Given the description of an element on the screen output the (x, y) to click on. 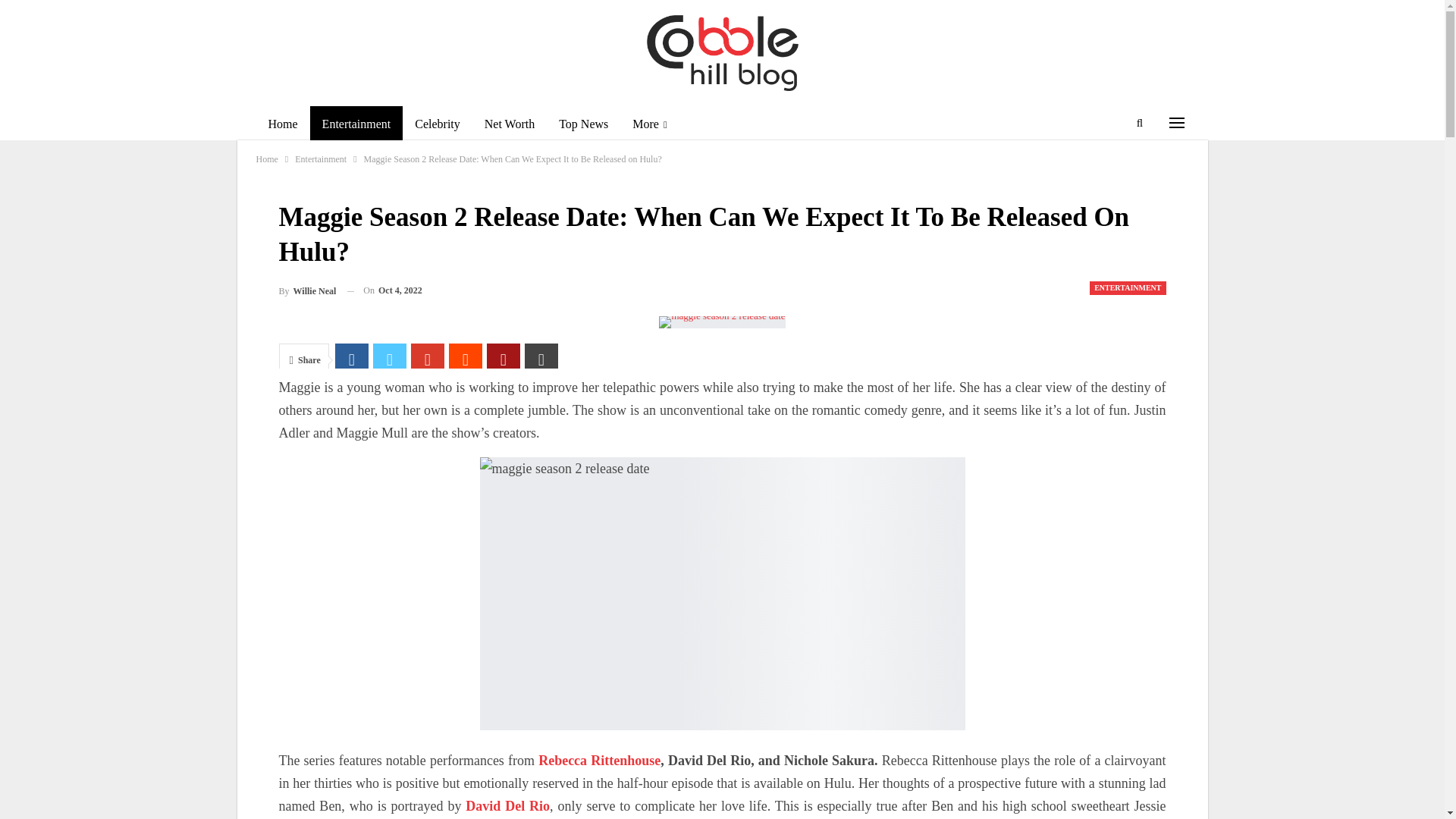
Home (267, 158)
By Willie Neal (307, 290)
Net Worth (509, 124)
Entertainment (320, 158)
Top News (583, 124)
Entertainment (356, 124)
Celebrity (437, 124)
David Del Rio (505, 806)
Home (283, 124)
ENTERTAINMENT (1127, 287)
Rebecca Rittenhouse (599, 760)
Browse Author Articles (307, 290)
More (649, 124)
